Given the description of an element on the screen output the (x, y) to click on. 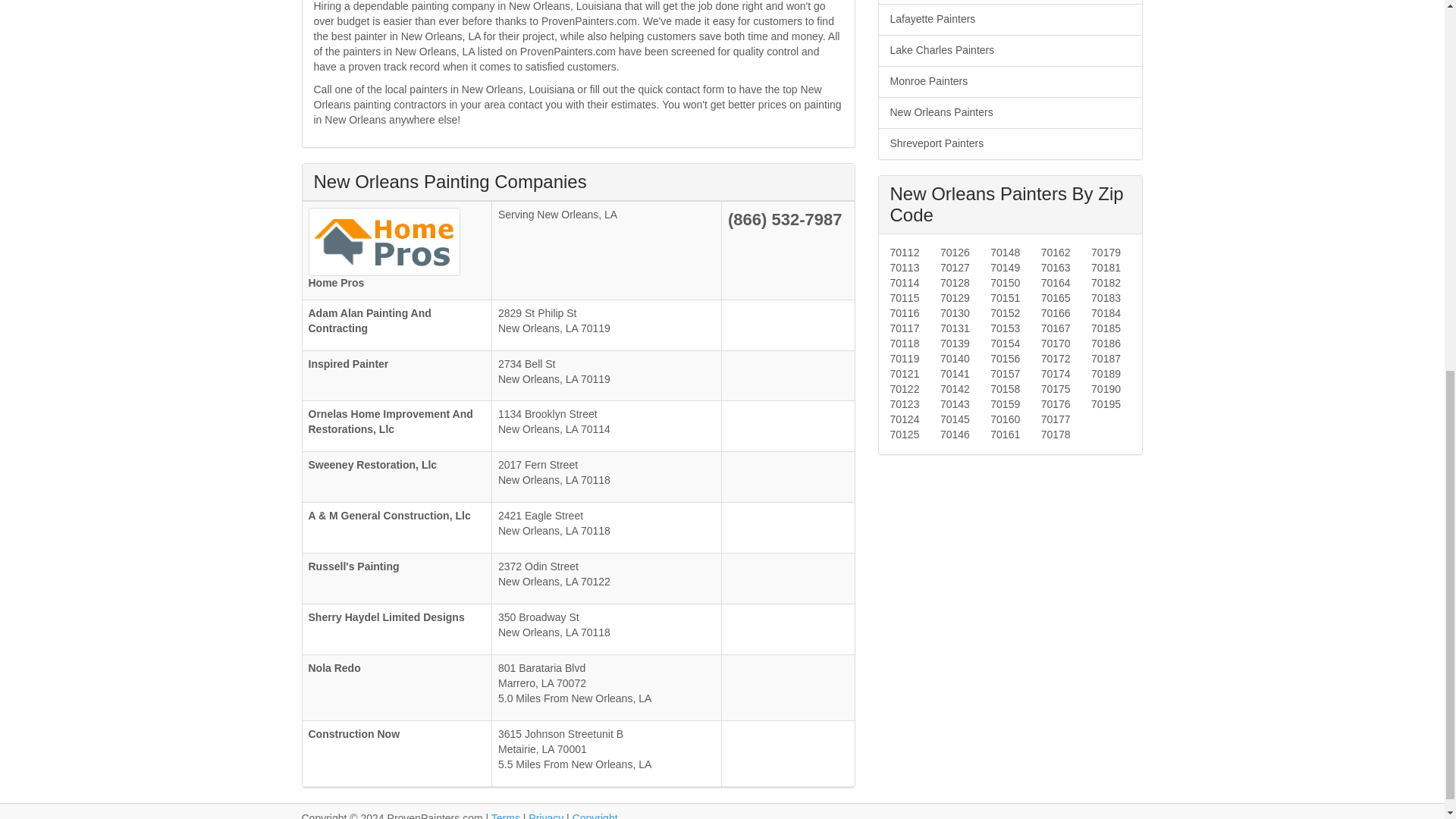
Kenner Painters (1009, 2)
Lake Charles Painters (1009, 50)
Lafayette Painters (1009, 20)
Monroe Painters (1009, 81)
New Orleans Painters (1009, 112)
Shreveport Painters (1009, 142)
